Given the description of an element on the screen output the (x, y) to click on. 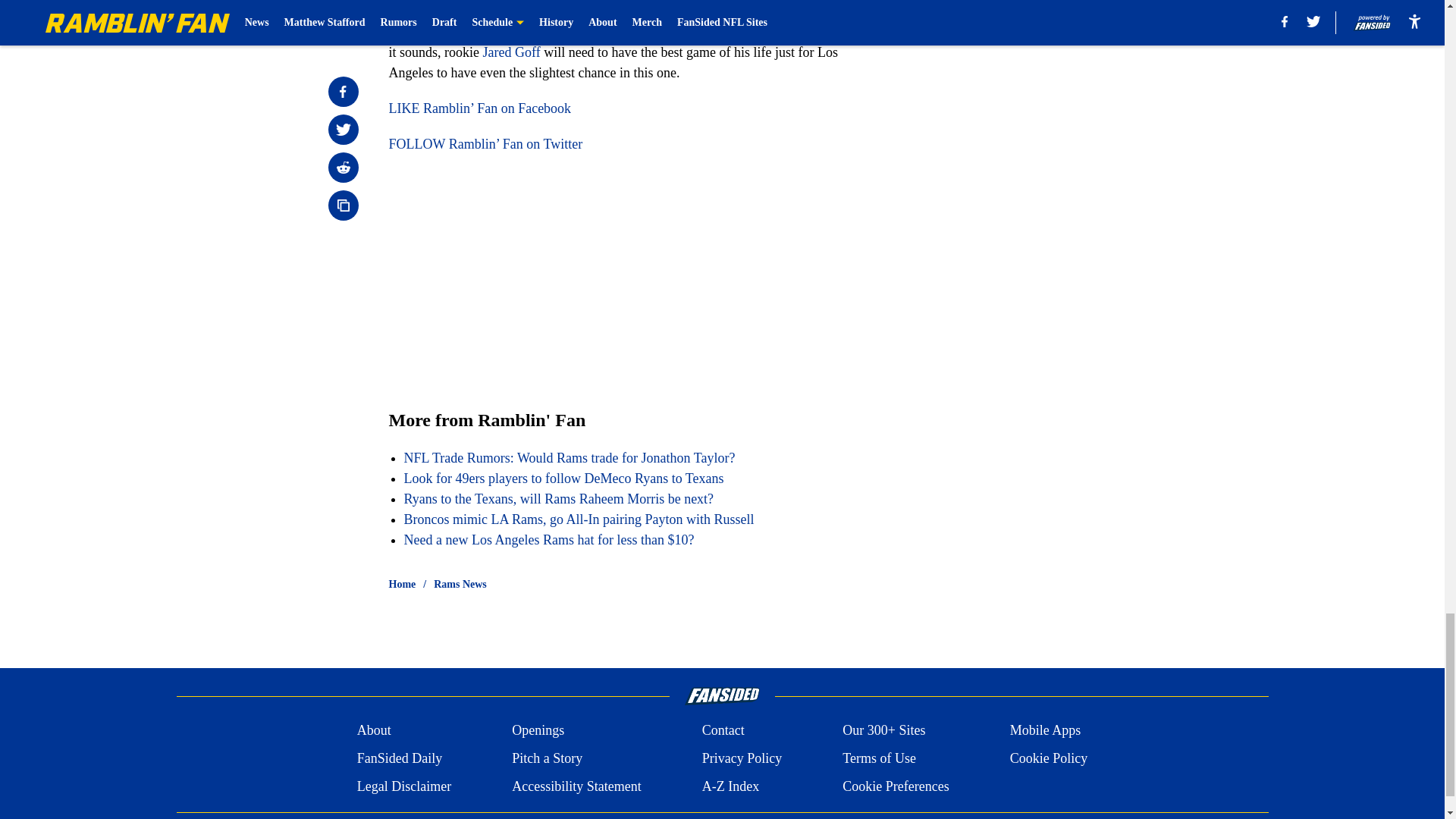
Look for 49ers players to follow DeMeco Ryans to Texans (563, 478)
Rams News (459, 584)
Contact (722, 730)
NFL Trade Rumors: Would Rams trade for Jonathon Taylor? (569, 458)
Home (401, 584)
Broncos mimic LA Rams, go All-In pairing Payton with Russell (578, 519)
Openings (538, 730)
Ryans to the Texans, will Rams Raheem Morris be next? (558, 498)
About (373, 730)
Jared Goff (510, 52)
